Given the description of an element on the screen output the (x, y) to click on. 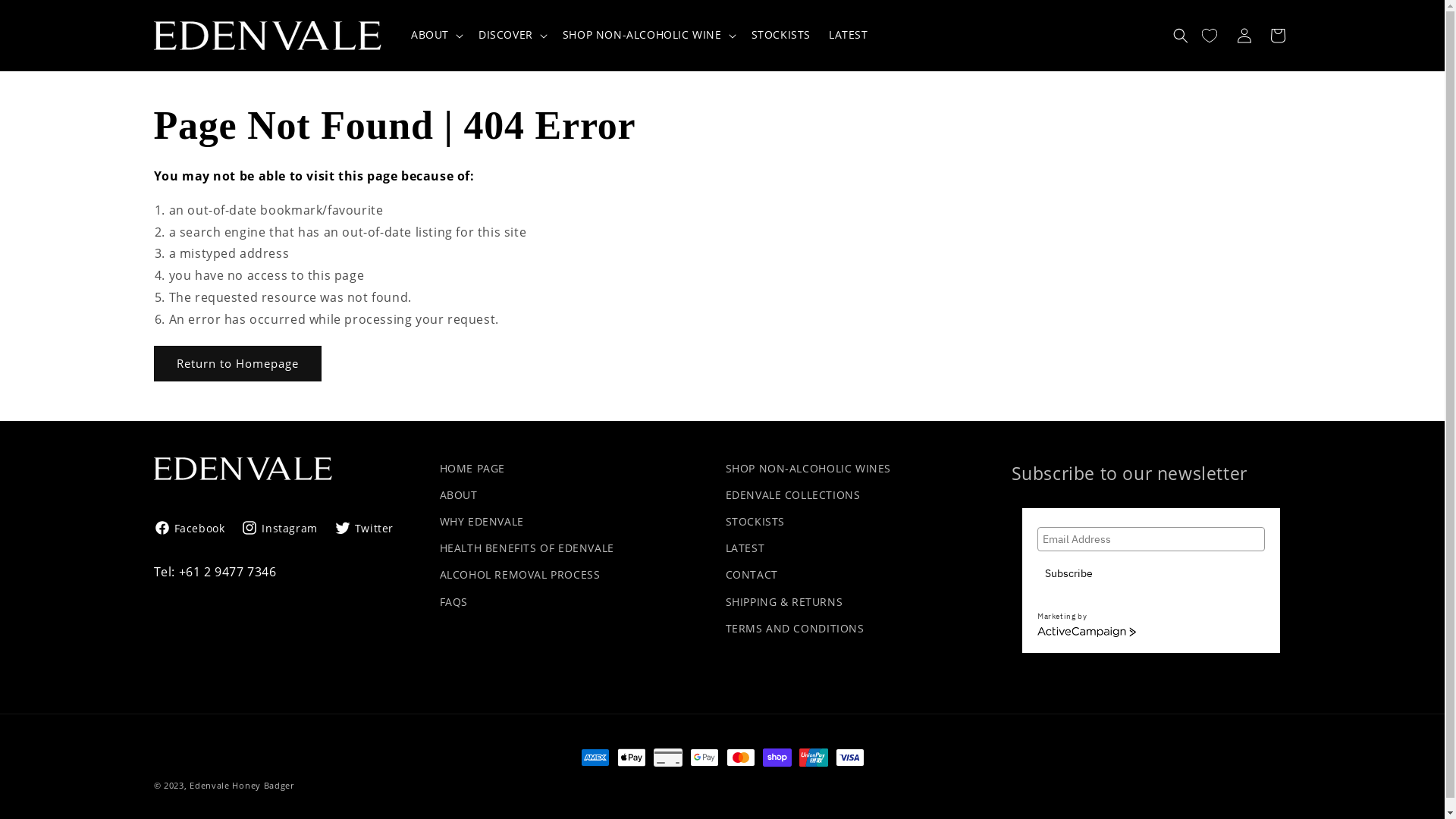
Return to Homepage Element type: text (236, 363)
ABOUT Element type: text (458, 494)
LATEST Element type: text (744, 547)
SHOP NON-ALCOHOLIC WINES Element type: text (807, 469)
DISCOVER Element type: text (505, 34)
HEALTH BENEFITS OF EDENVALE Element type: text (526, 547)
SHOP NON-ALCOHOLIC WINE Element type: text (641, 34)
STOCKISTS Element type: text (780, 34)
SHIPPING & RETURNS Element type: text (783, 601)
ABOUT Element type: text (429, 34)
+61 2 9477 7346 Element type: text (227, 571)
Subscribe Element type: text (1068, 572)
Log in Element type: text (1243, 34)
Facebook Element type: text (192, 528)
Edenvale Element type: text (209, 784)
STOCKISTS Element type: text (754, 521)
EDENVALE COLLECTIONS Element type: text (791, 494)
Instagram Element type: text (278, 528)
WHY EDENVALE Element type: text (481, 521)
FAQS Element type: text (453, 601)
CONTACT Element type: text (750, 574)
LATEST Element type: text (848, 34)
TERMS AND CONDITIONS Element type: text (793, 628)
Twitter Element type: text (363, 528)
HOME PAGE Element type: text (472, 469)
Cart Element type: text (1276, 34)
ActiveCampaign Element type: text (1086, 632)
Honey Badger Element type: text (262, 784)
ALCOHOL REMOVAL PROCESS Element type: text (519, 574)
